Given the description of an element on the screen output the (x, y) to click on. 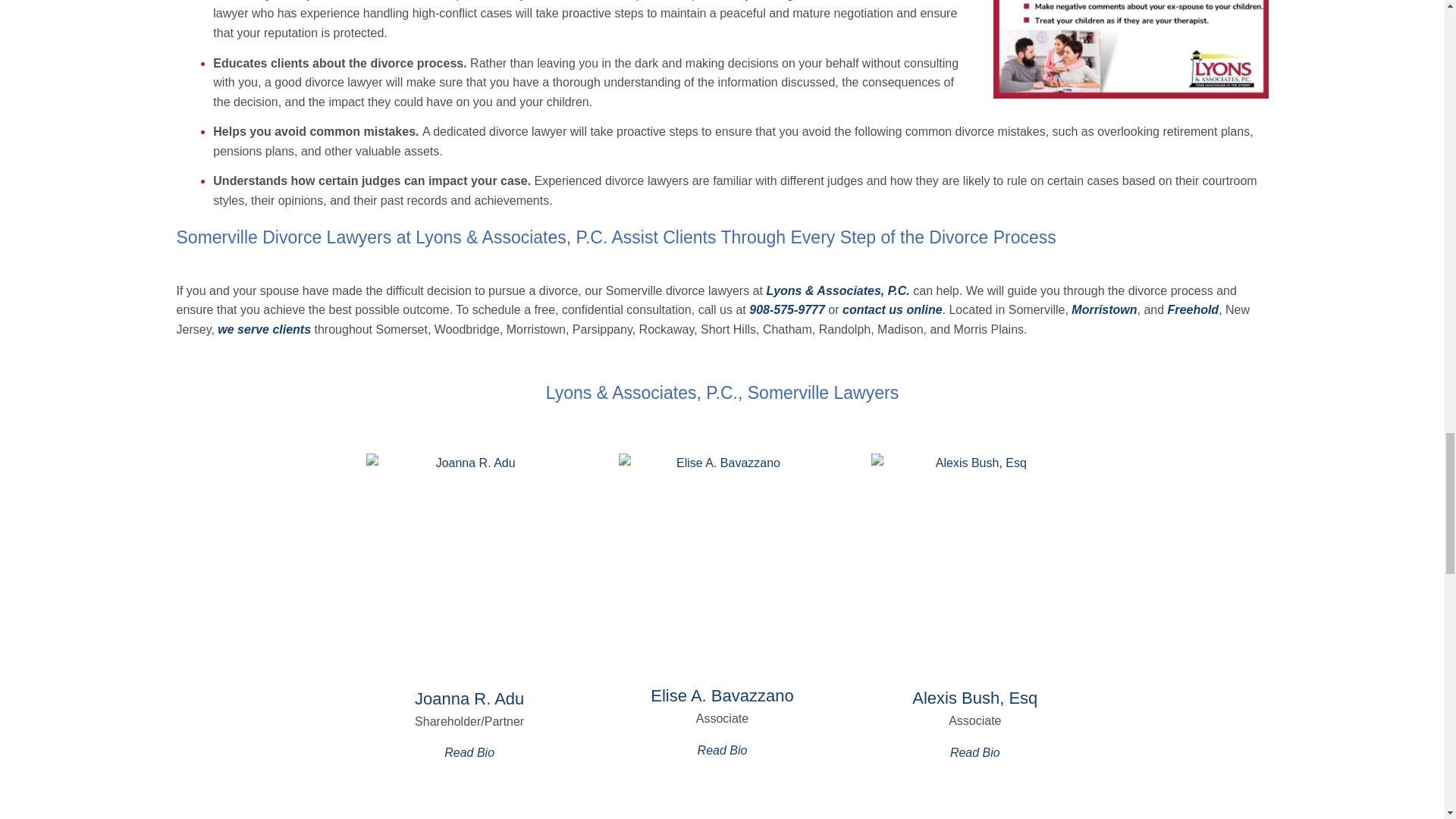
Somerville Divorce Lawyers (1130, 49)
AlexisBushHeadshotCutout (974, 563)
Joanna-Adu-attorney (468, 563)
